Given the description of an element on the screen output the (x, y) to click on. 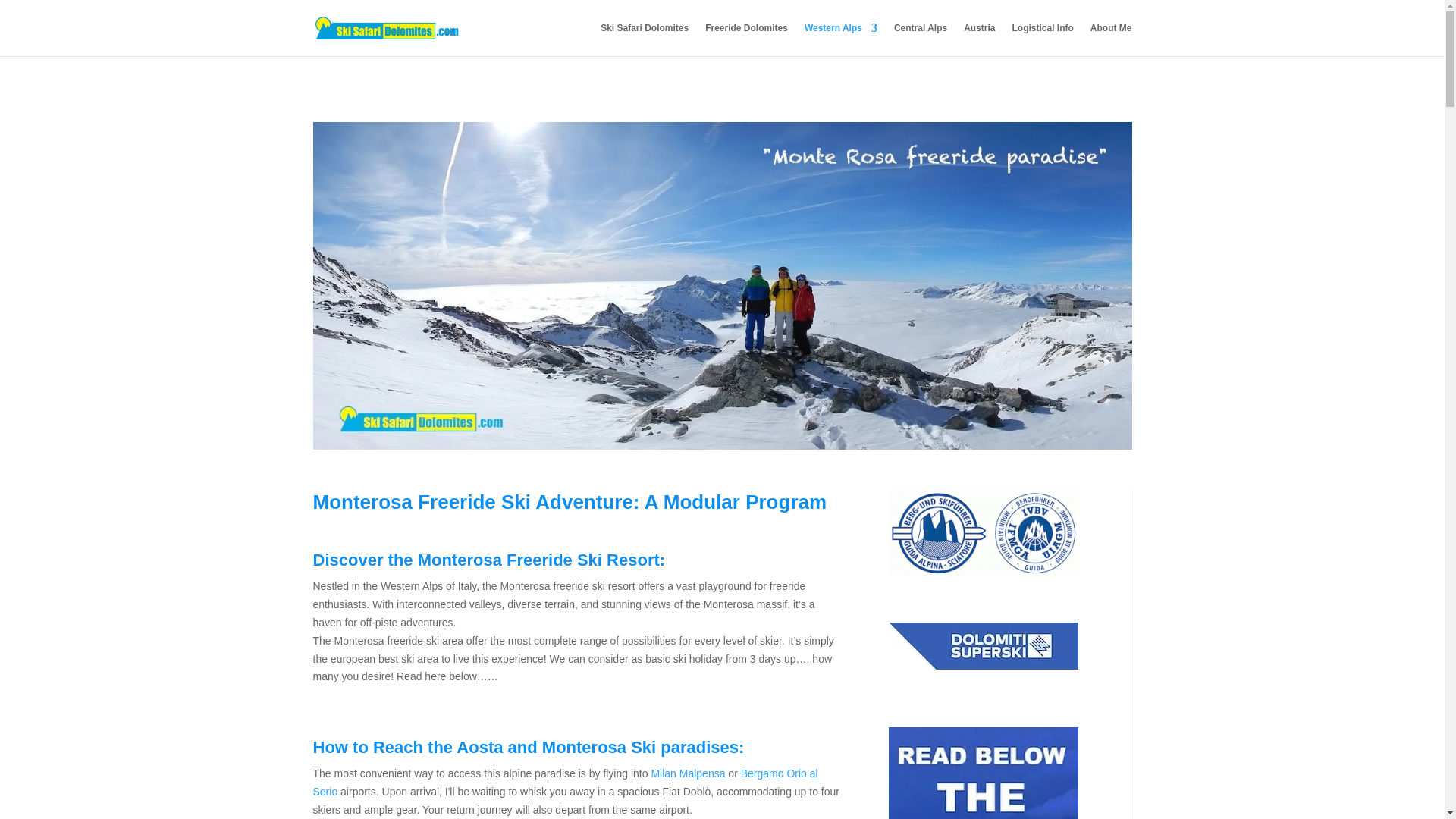
Austria (978, 39)
Bergamo Orio al Serio (564, 782)
Milan Malpensa (687, 773)
Freeride Dolomites (745, 39)
Central Alps (920, 39)
Ski Safari Dolomites (643, 39)
Western Alps (841, 39)
Logistical Info (1042, 39)
About Me (1111, 39)
